Given the description of an element on the screen output the (x, y) to click on. 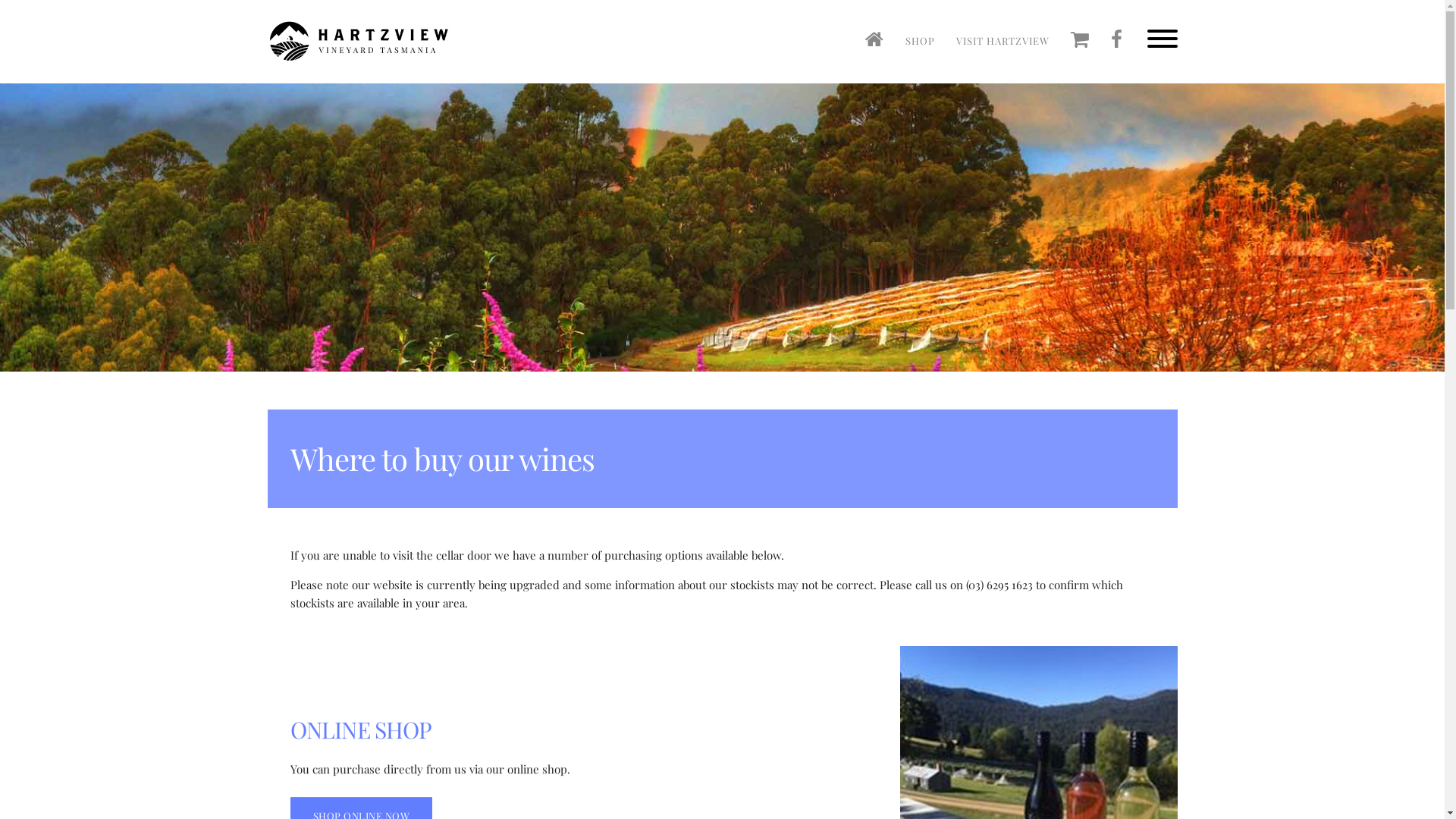
SHOP Element type: text (920, 40)
VISIT HARTZVIEW Element type: text (1001, 40)
